Given the description of an element on the screen output the (x, y) to click on. 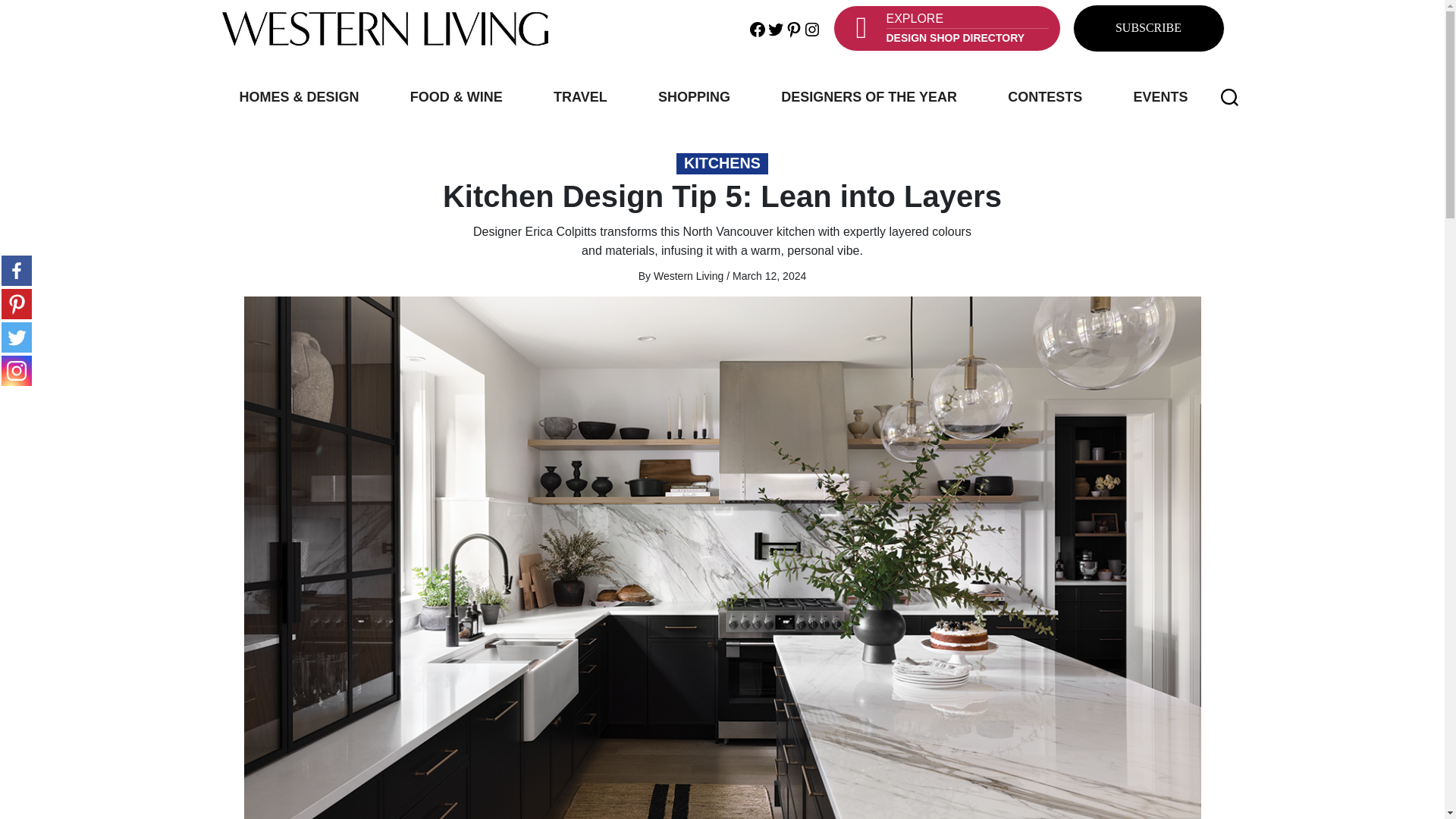
Instagram (16, 370)
Facebook (756, 27)
SUBSCRIBE (1147, 28)
Twitter (16, 337)
Facebook (16, 270)
Twitter (774, 27)
Instagram (811, 27)
Pinterest (16, 304)
Pinterest (793, 27)
